Given the description of an element on the screen output the (x, y) to click on. 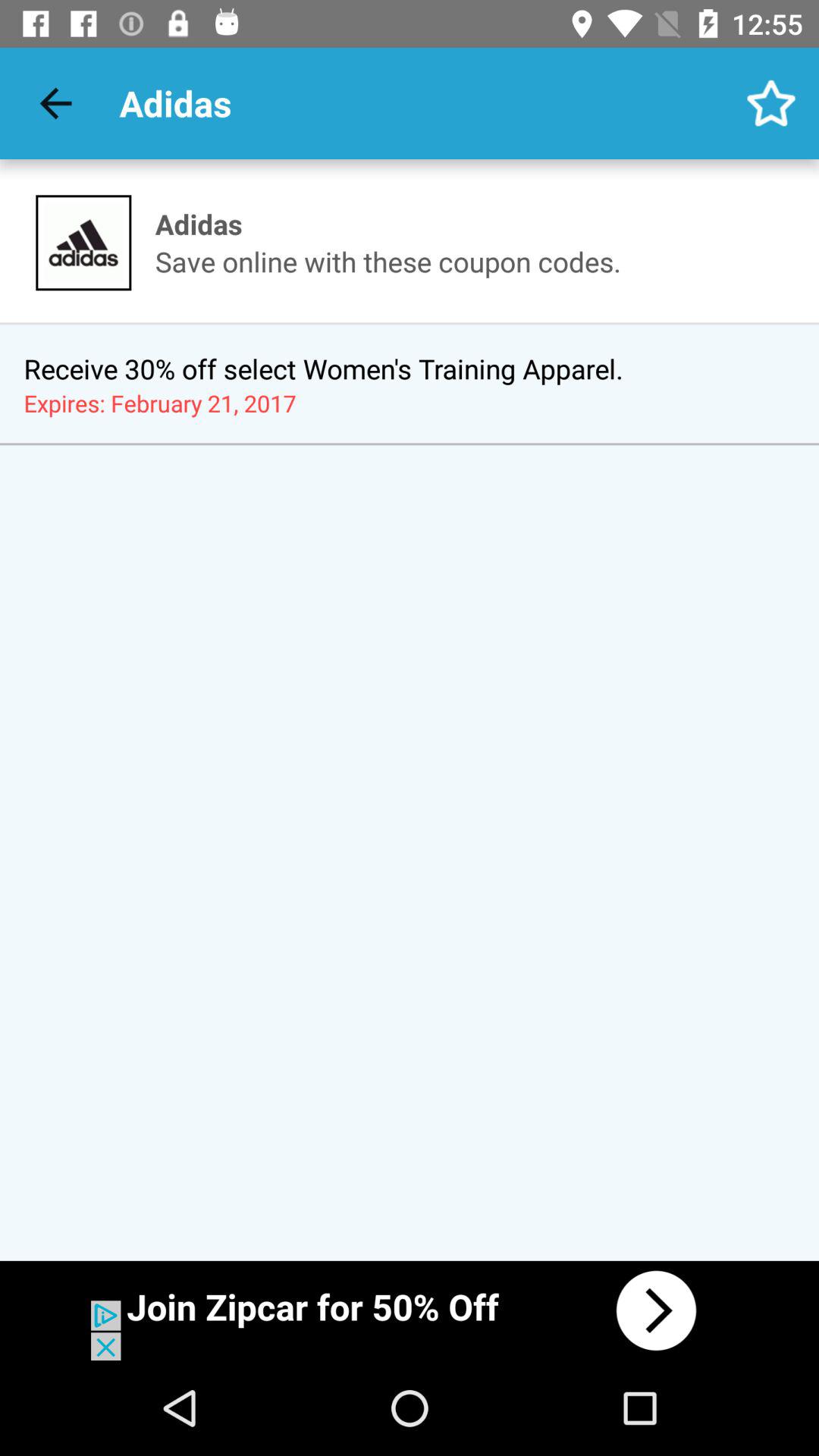
advertisement (409, 1310)
